Given the description of an element on the screen output the (x, y) to click on. 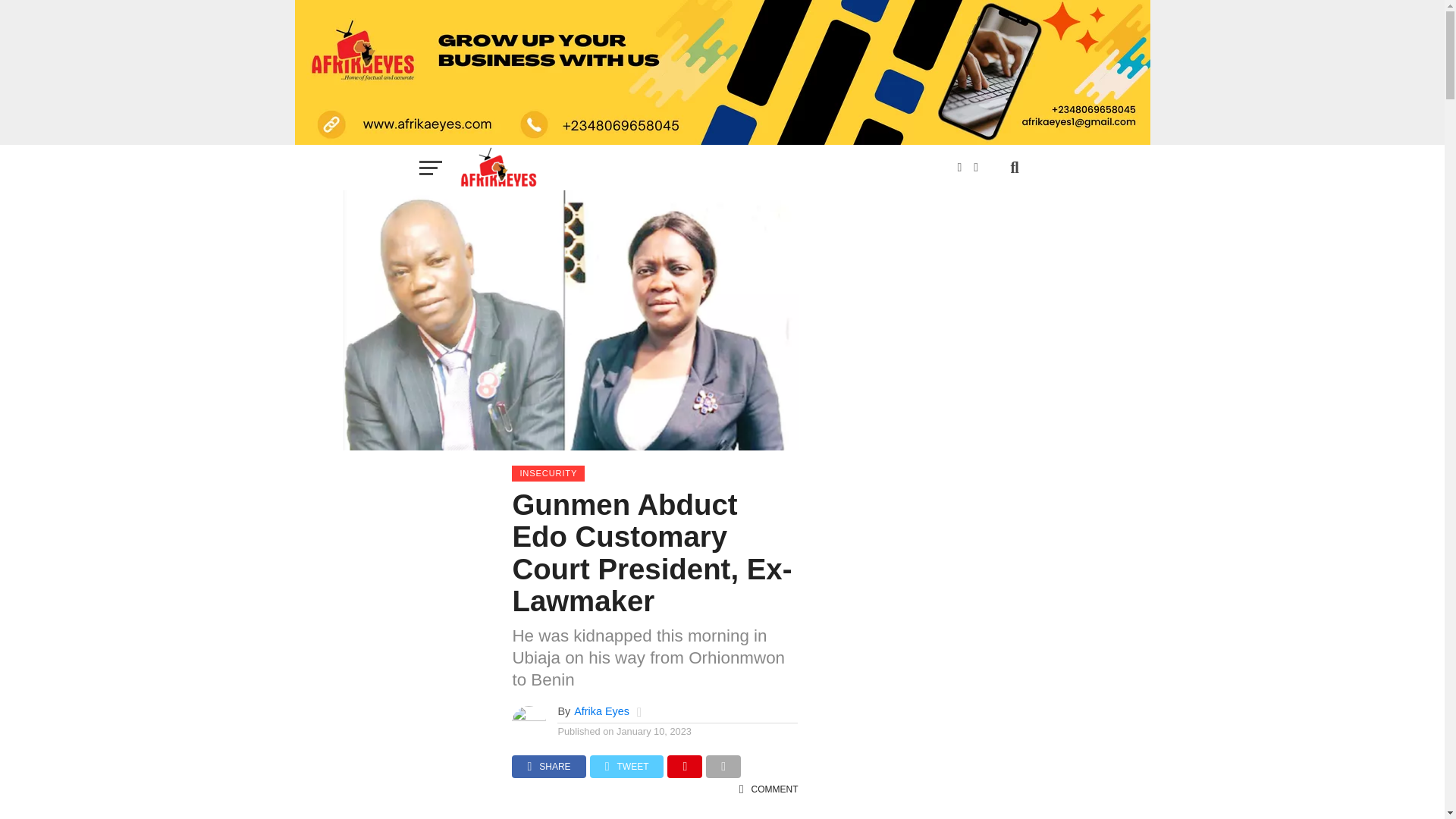
Posts by Afrika Eyes (600, 711)
Grow Business (722, 72)
